Given the description of an element on the screen output the (x, y) to click on. 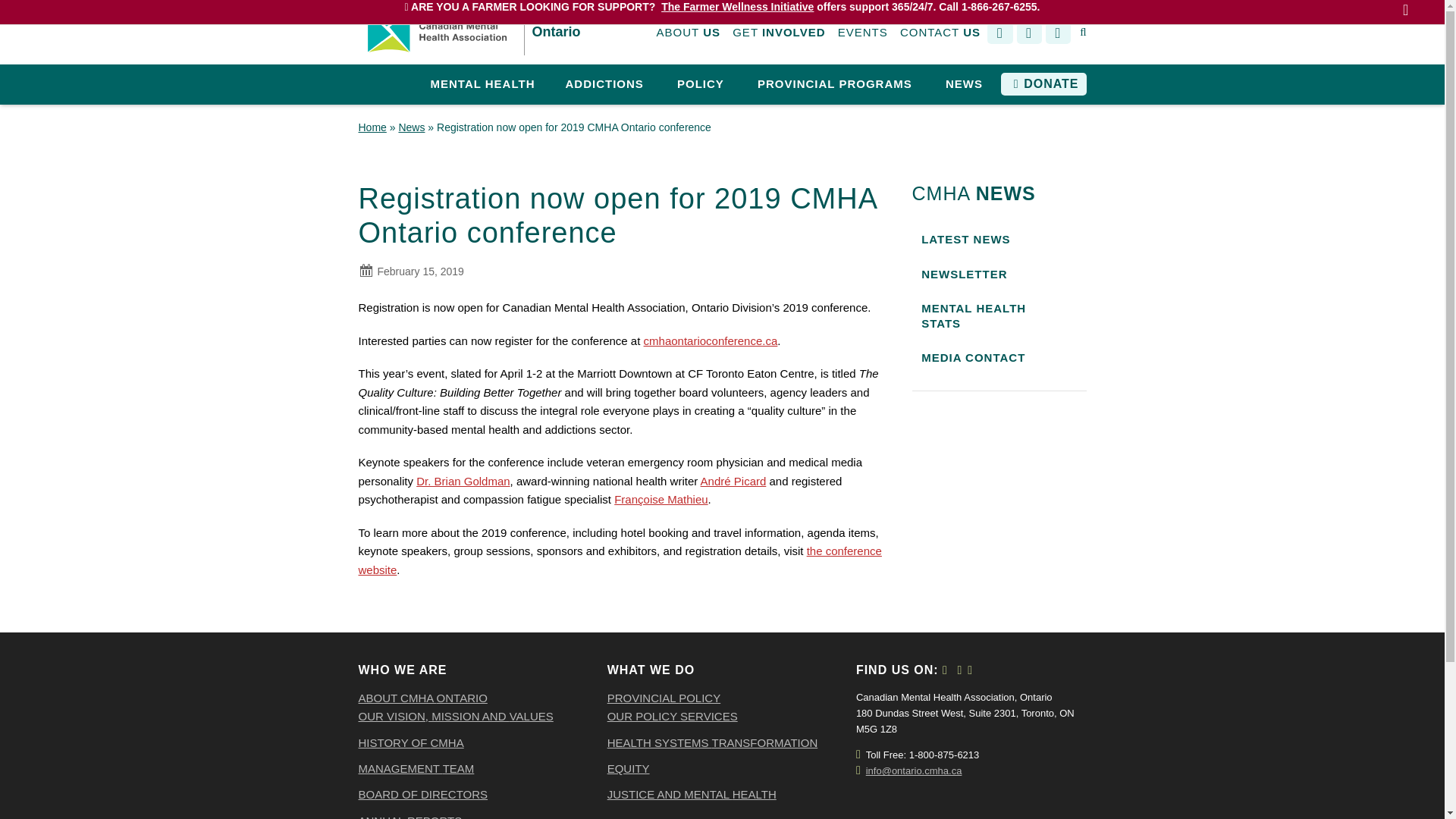
CONTACT US (939, 32)
The Farmer Wellness Initiative (737, 6)
Go to News. (411, 127)
ABOUT US (688, 32)
MENTAL HEALTH (482, 84)
POLICY (700, 84)
EVENTS (863, 32)
GET INVOLVED (778, 32)
Go to Home. (371, 127)
